Given the description of an element on the screen output the (x, y) to click on. 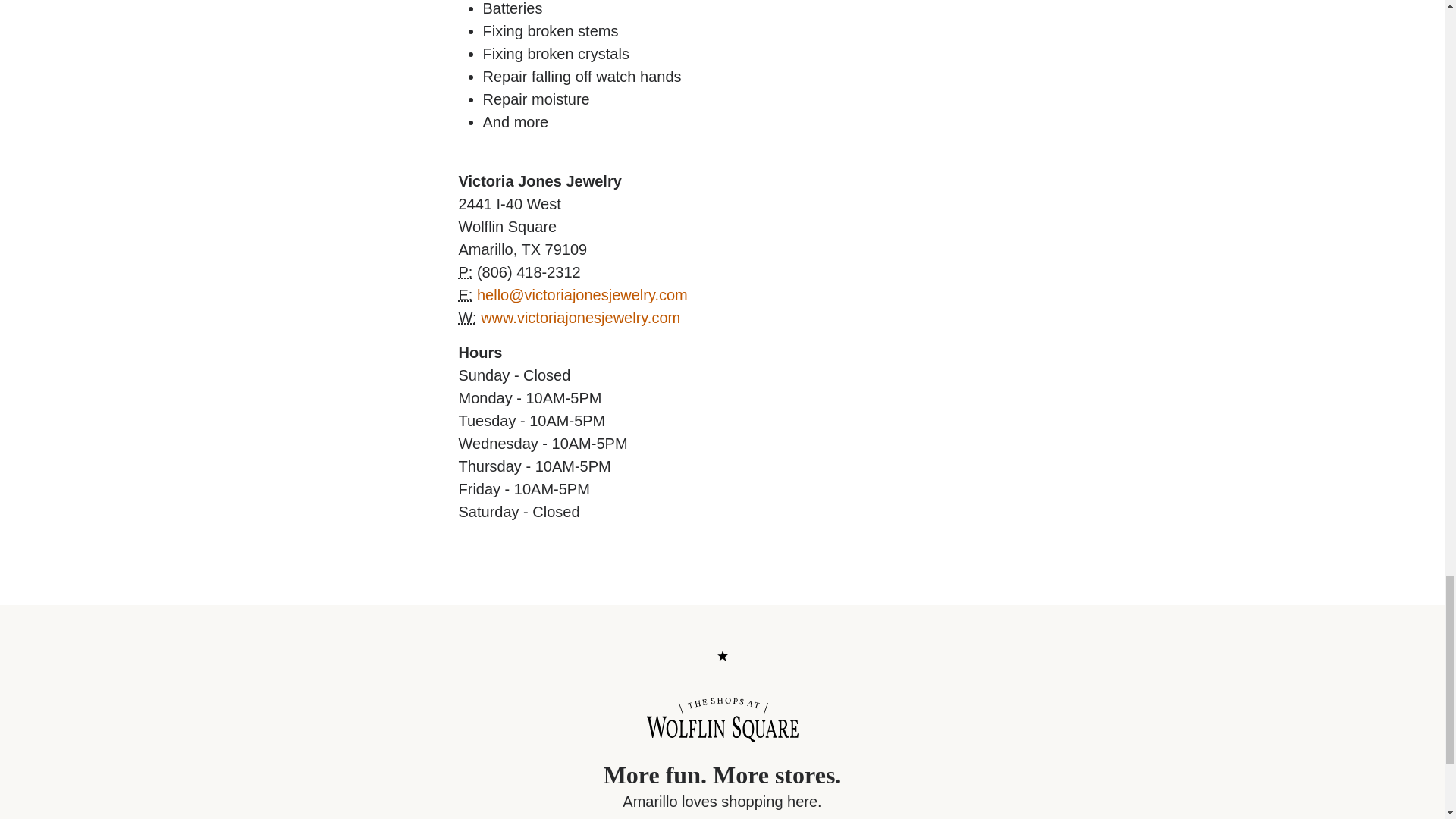
www.victoriajonesjewelry.com (579, 317)
Website (467, 317)
